Given the description of an element on the screen output the (x, y) to click on. 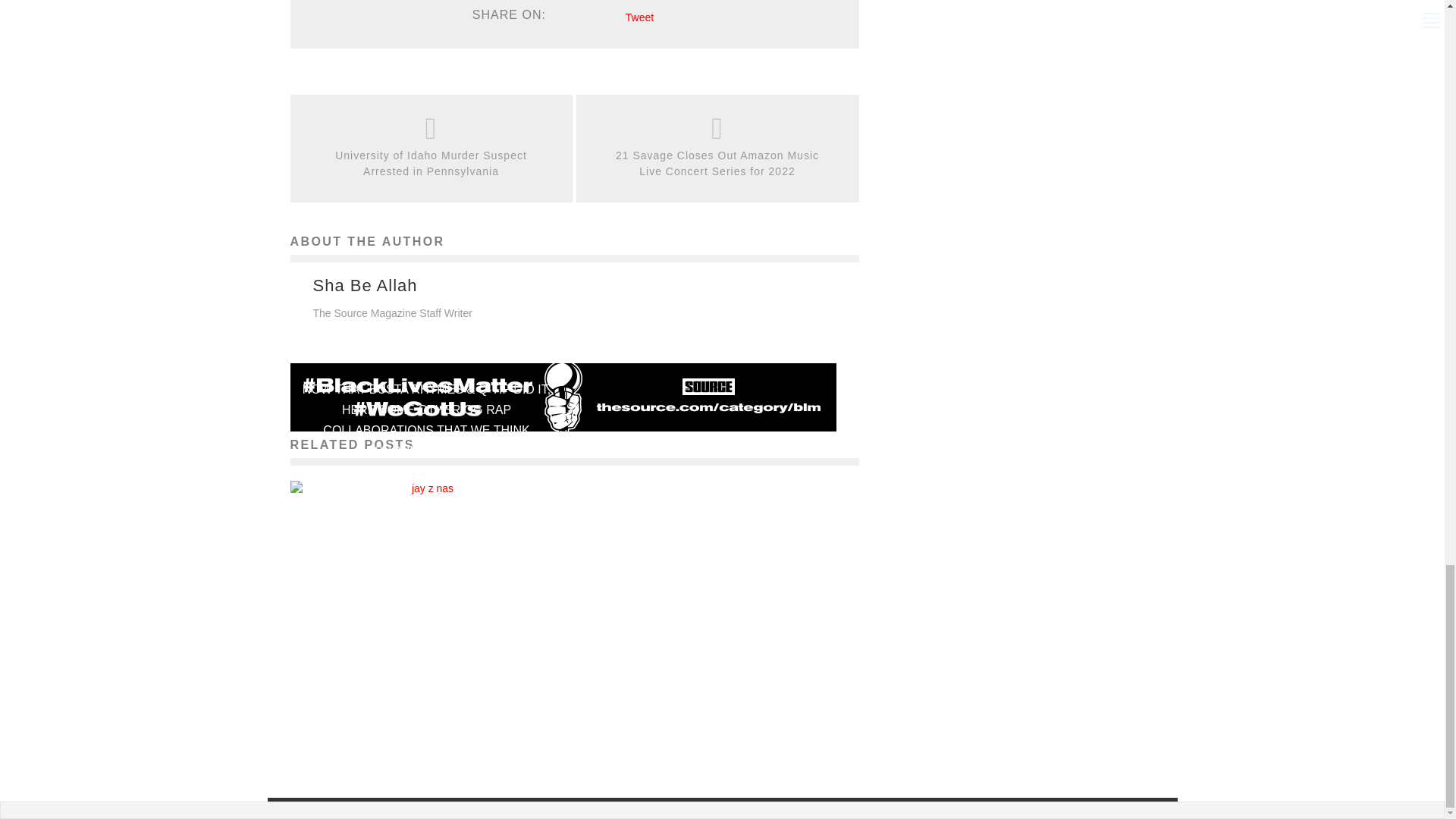
University of Idaho Murder Suspect Arrested in Pennsylvania (430, 163)
Sha Be Allah (364, 285)
Tweet (639, 17)
